Given the description of an element on the screen output the (x, y) to click on. 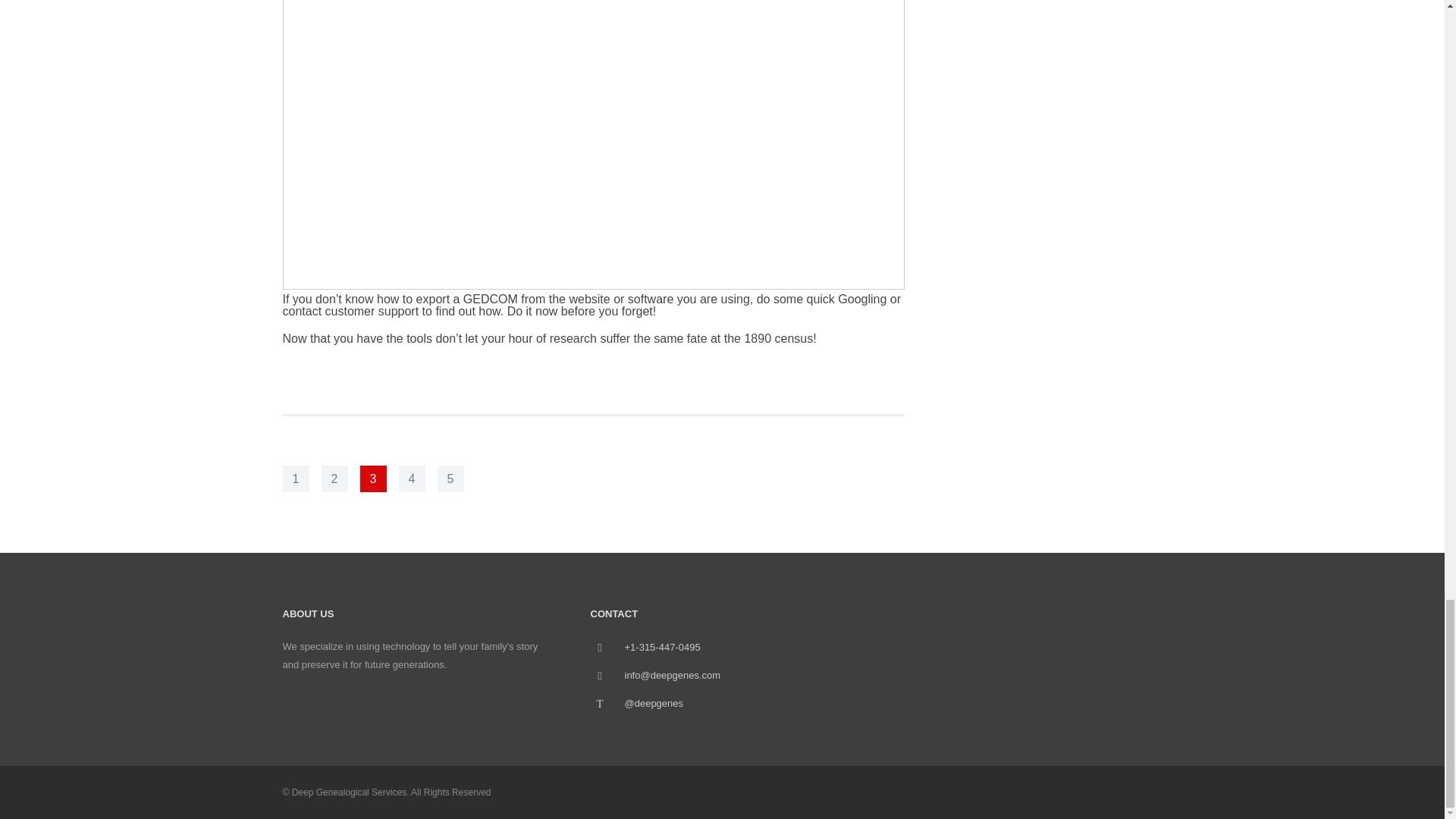
4 (411, 479)
2 (334, 479)
5 (449, 479)
1 (295, 479)
